Given the description of an element on the screen output the (x, y) to click on. 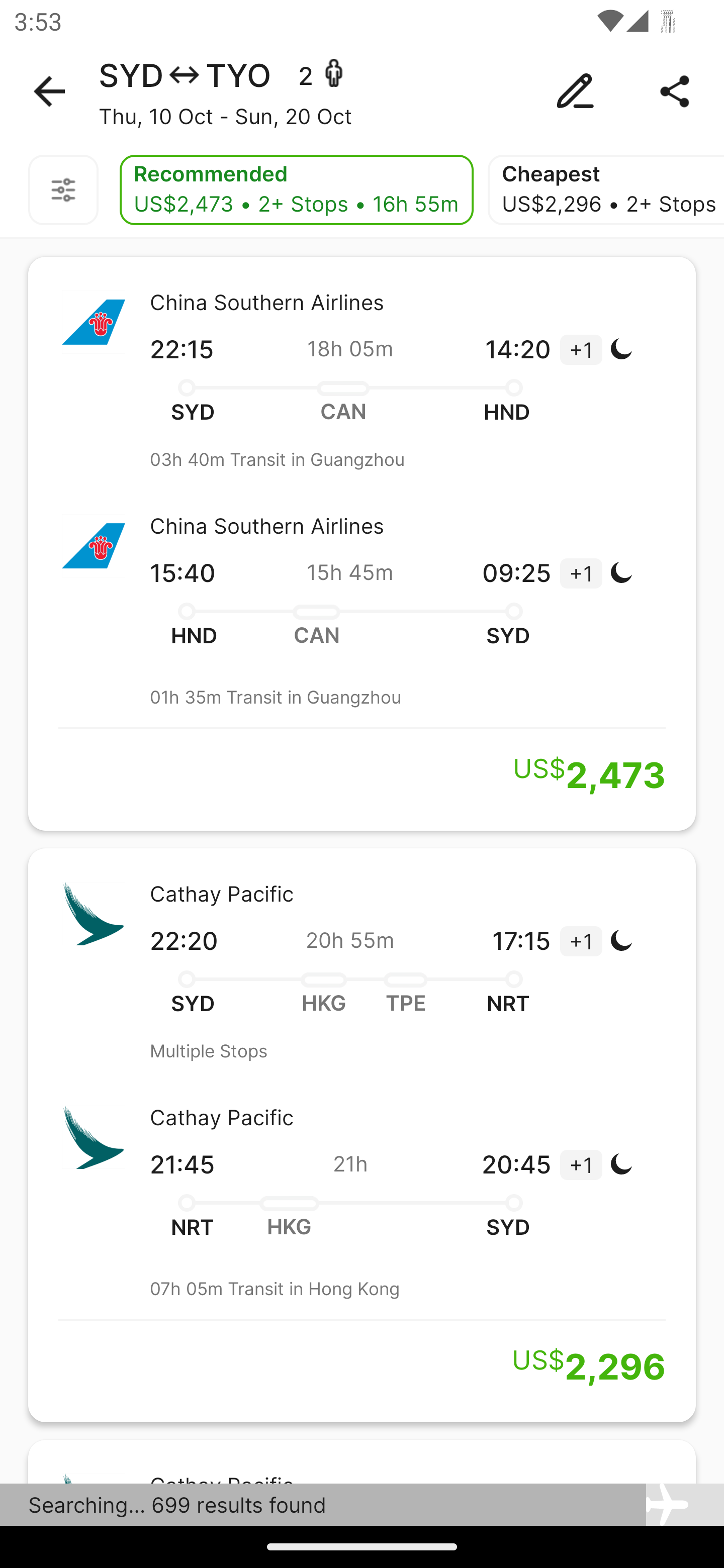
SYD TYO   2 - Thu, 10 Oct - Sun, 20 Oct (361, 91)
Recommended  US$2,473 • 2+ Stops • 16h 55m (296, 190)
Cheapest US$2,296 • 2+ Stops • 20h 57m (605, 190)
